Given the description of an element on the screen output the (x, y) to click on. 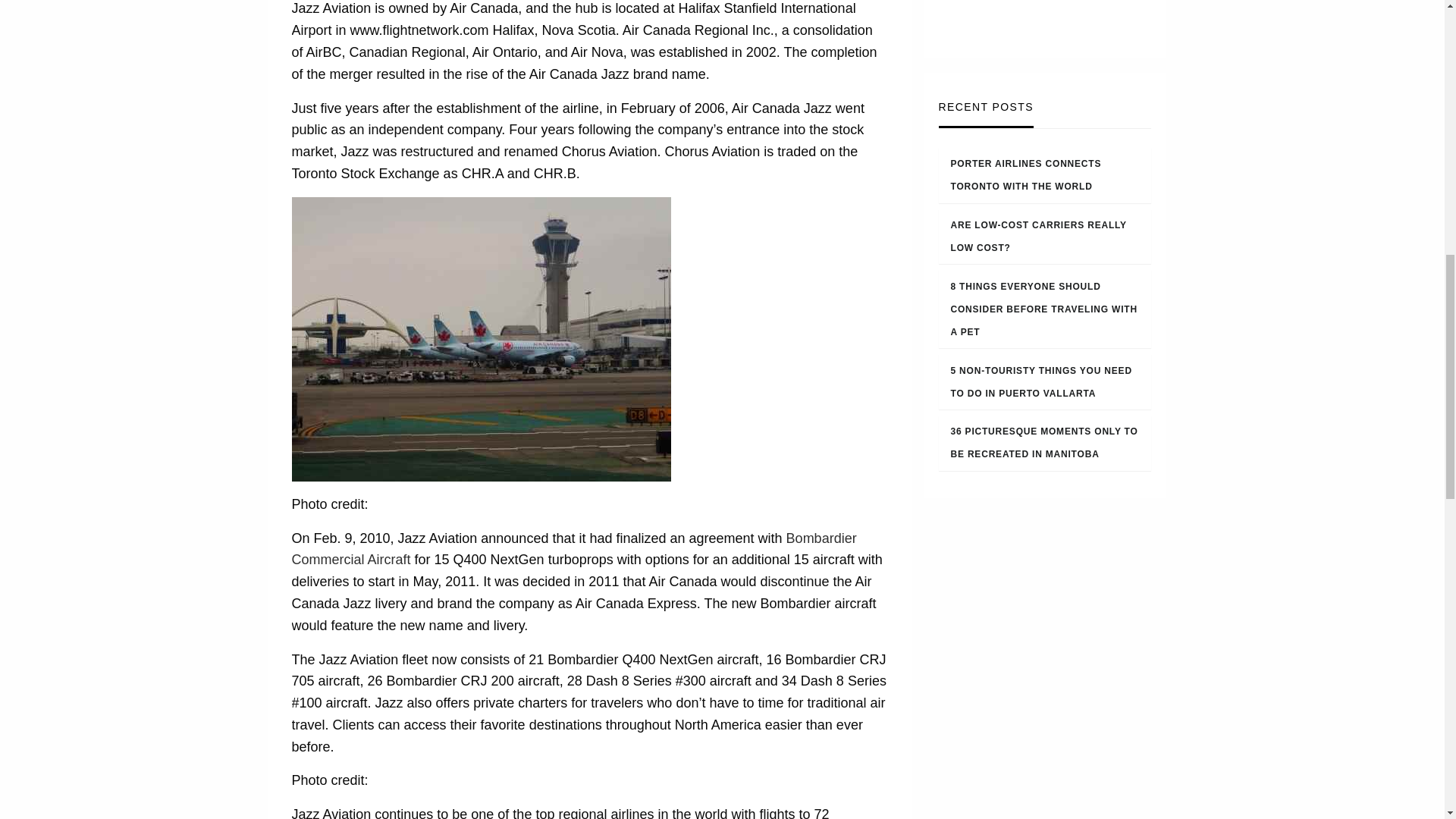
ARE LOW-COST CARRIERS REALLY LOW COST? (1038, 236)
PORTER AIRLINES CONNECTS TORONTO WITH THE WORLD (1026, 174)
